Given the description of an element on the screen output the (x, y) to click on. 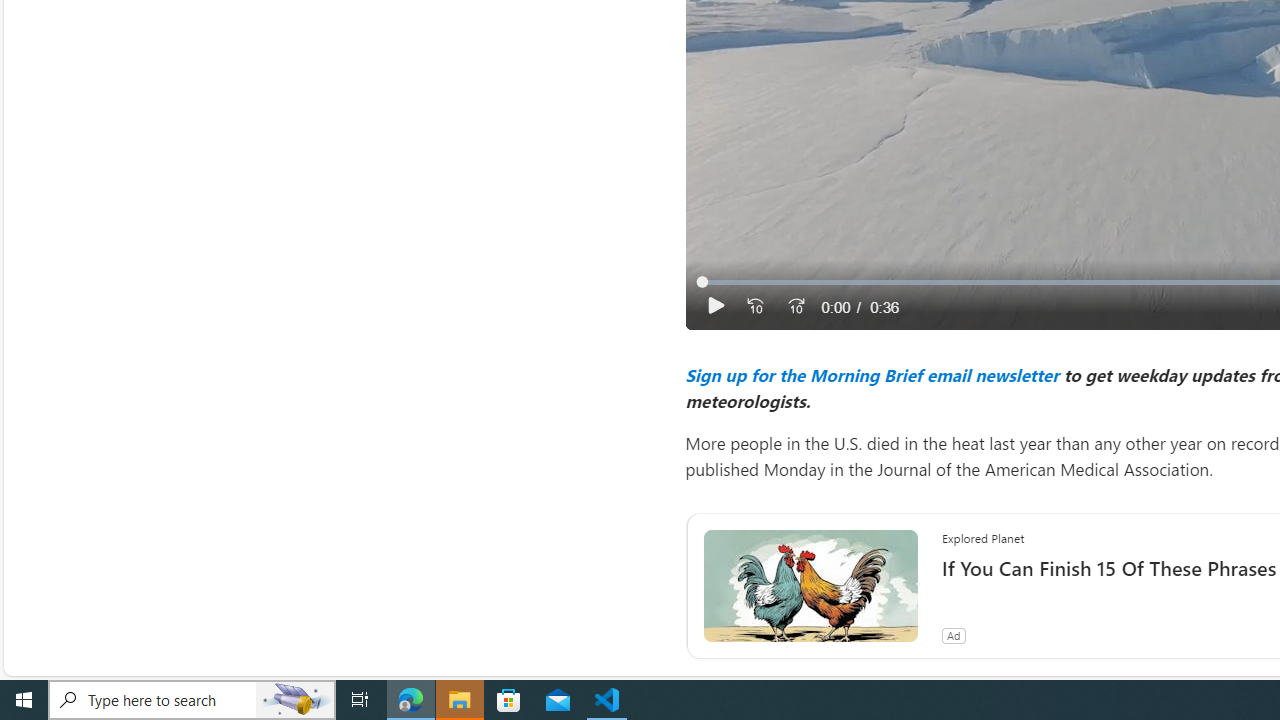
Seek Forward (795, 306)
Seek Back (754, 306)
Play (715, 306)
Sign up for the Morning Brief email newsletter (871, 373)
